Given the description of an element on the screen output the (x, y) to click on. 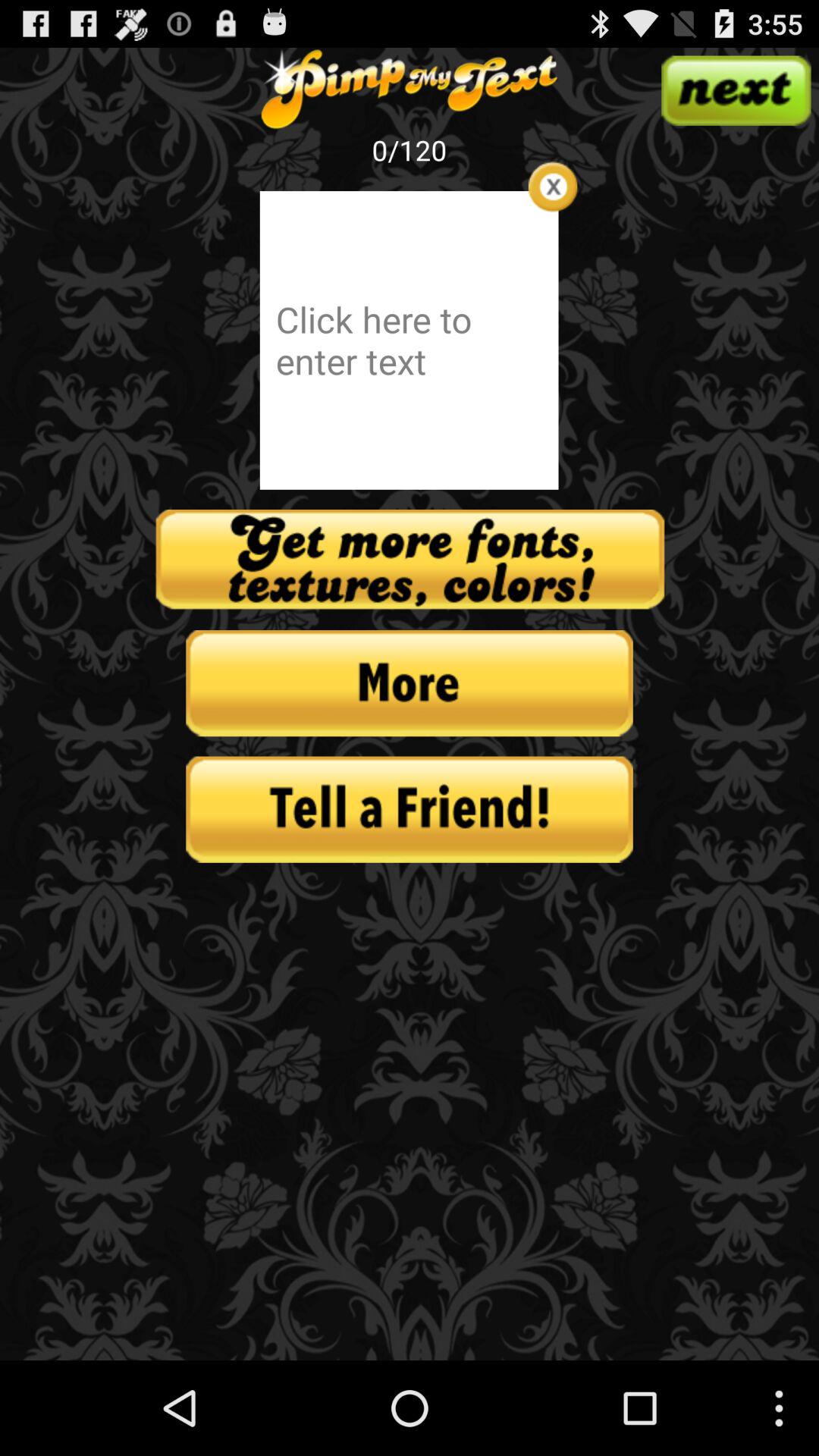
go to next (736, 90)
